Given the description of an element on the screen output the (x, y) to click on. 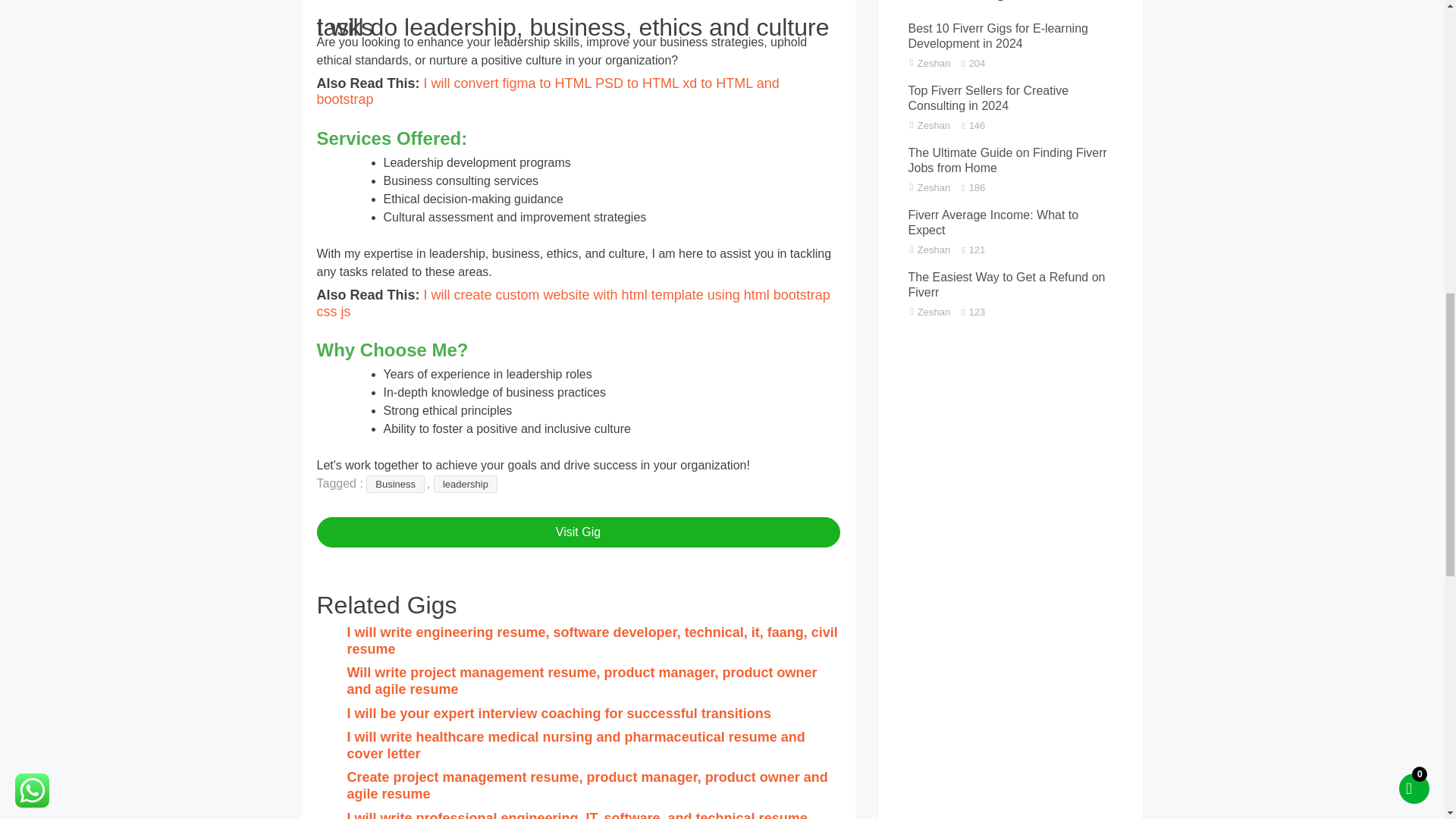
Visit Gig (578, 531)
